Given the description of an element on the screen output the (x, y) to click on. 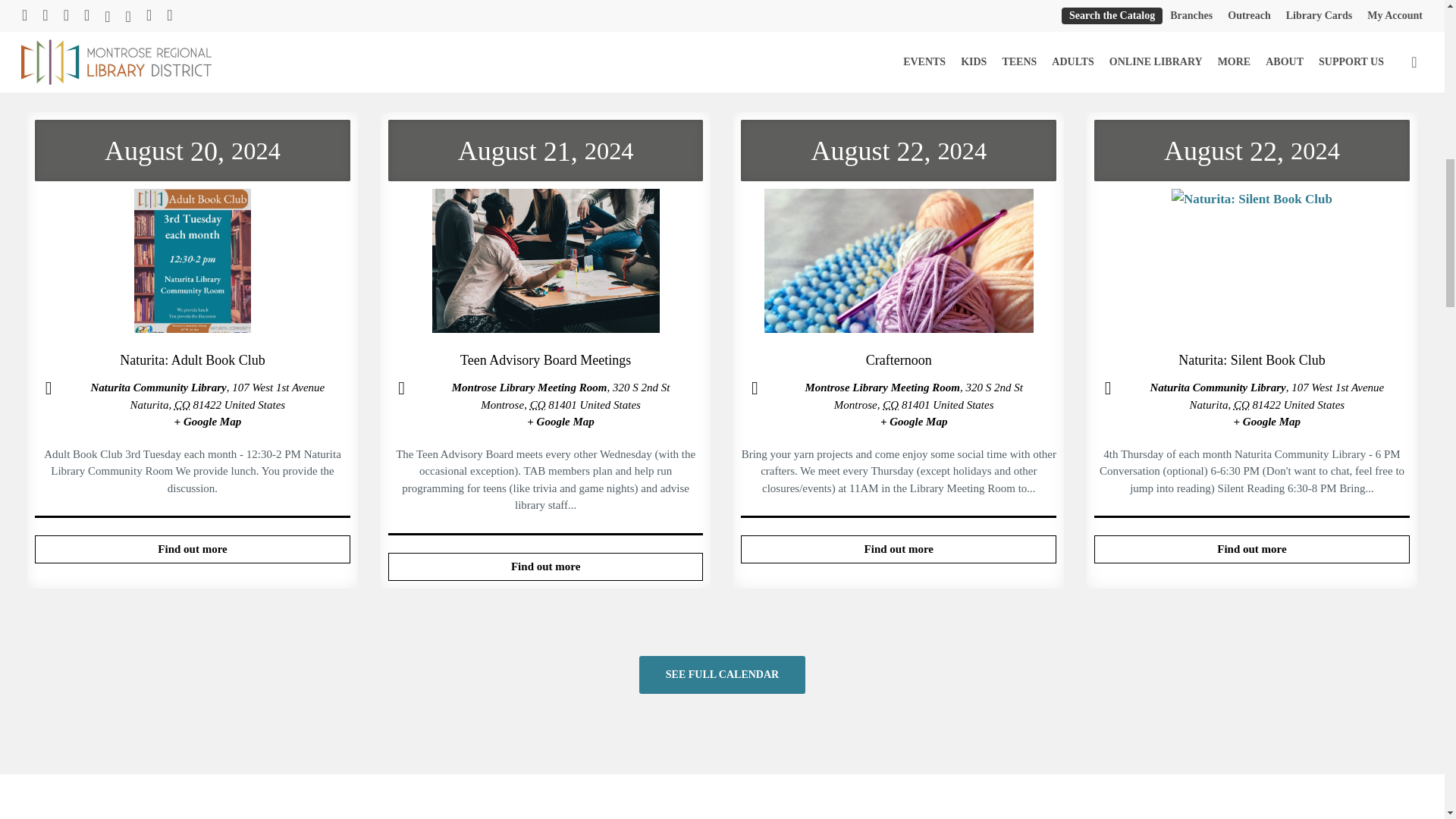
Click to view a Google Map (560, 421)
Colorado (890, 404)
Naturita Community Library (157, 387)
Crafternoon (898, 264)
Montrose Library Meeting Room (882, 387)
Teen Advisory Board Meetings (545, 566)
Colorado (537, 404)
Click to view a Google Map (913, 421)
Naturita: Adult Book Club (192, 549)
Colorado (182, 404)
